Given the description of an element on the screen output the (x, y) to click on. 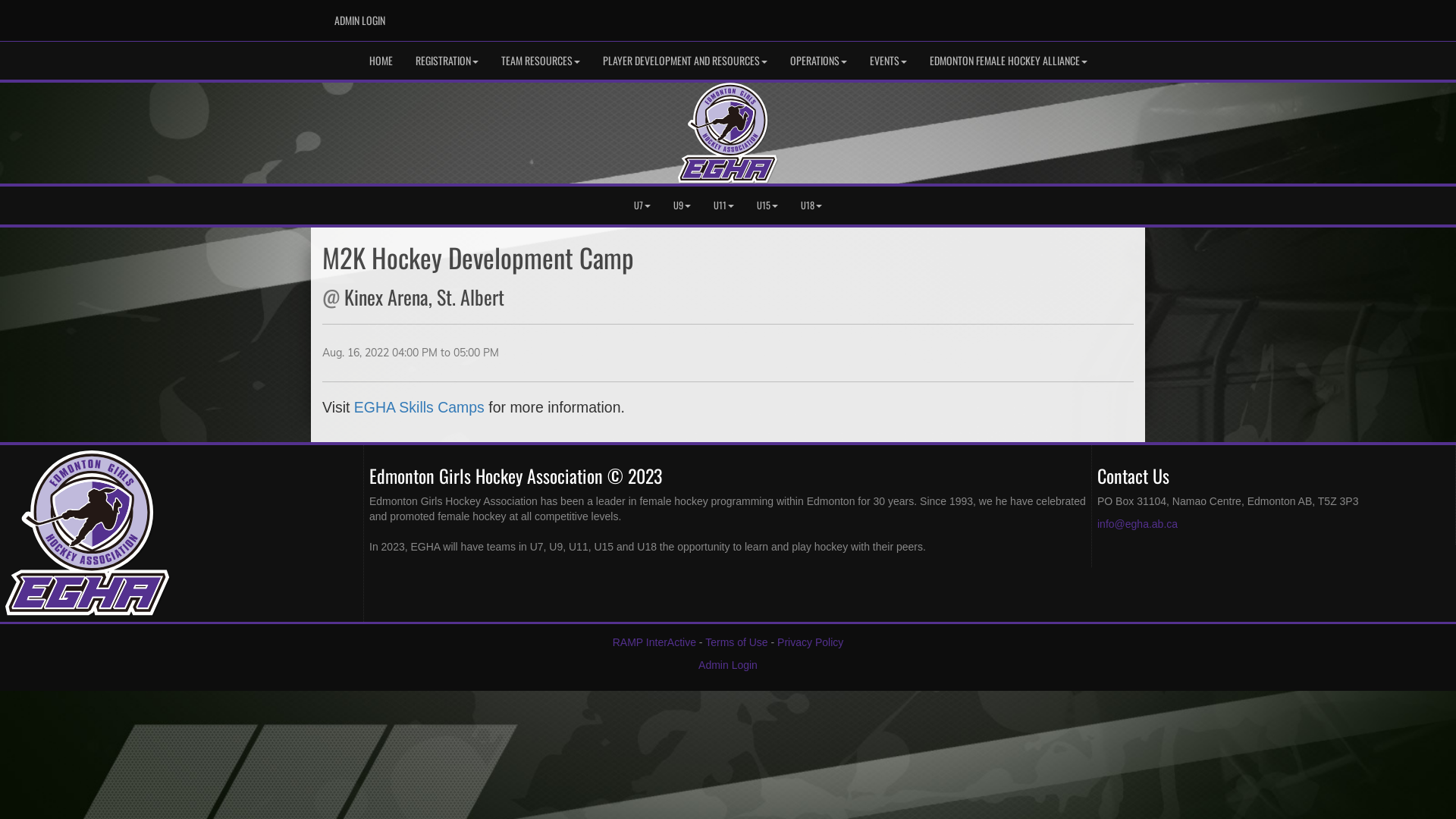
Instagram Element type: text (1112, 15)
REGISTRATION Element type: text (446, 60)
OPERATIONS Element type: text (817, 60)
Twitter Element type: text (1089, 15)
Facebook Element type: text (1044, 15)
HOME Element type: text (380, 60)
Youtube Element type: text (1066, 15)
RAMP InterActive Element type: text (654, 642)
U9 Element type: text (682, 205)
info@egha.ab.ca Element type: text (1137, 523)
Privacy Policy Element type: text (810, 642)
Admin Login Element type: text (727, 664)
U11 Element type: text (723, 205)
U18 Element type: text (811, 205)
TEAM RESOURCES Element type: text (540, 60)
U15 Element type: text (767, 205)
LOGIN PAGE
 ADMIN LOGIN
ADMIN LOGIN Element type: text (358, 20)
PLAYER DEVELOPMENT AND RESOURCES Element type: text (684, 60)
EDMONTON FEMALE HOCKEY ALLIANCE Element type: text (1007, 60)
U7 Element type: text (642, 205)
EGHA Skills Camps Element type: text (419, 406)
EVENTS Element type: text (888, 60)
Terms of Use Element type: text (736, 642)
